Given the description of an element on the screen output the (x, y) to click on. 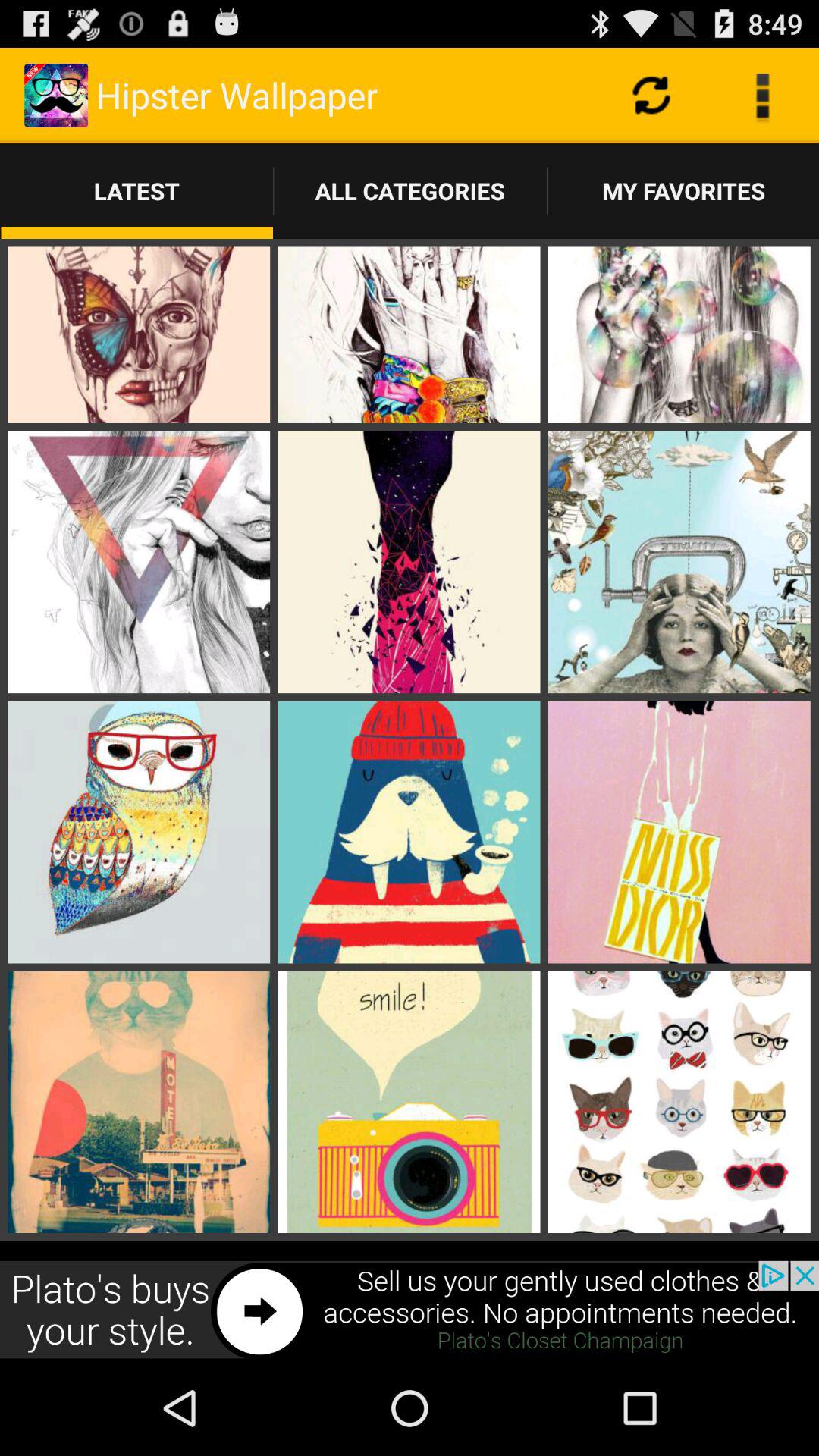
advertisement we close it or view it (409, 1310)
